Given the description of an element on the screen output the (x, y) to click on. 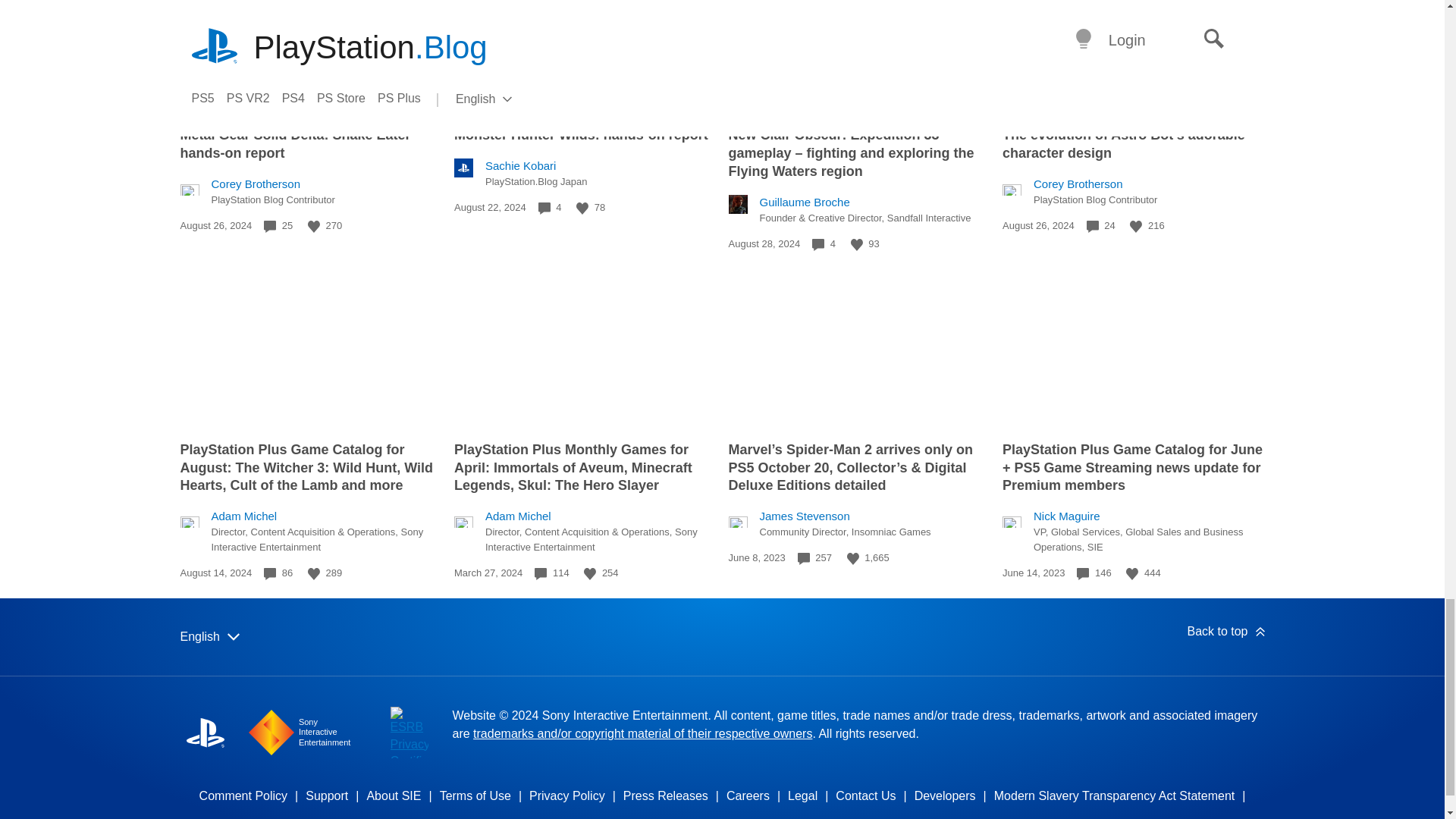
Like this (1135, 226)
Like this (313, 226)
Like this (582, 208)
Like this (313, 573)
Like this (856, 244)
